Given the description of an element on the screen output the (x, y) to click on. 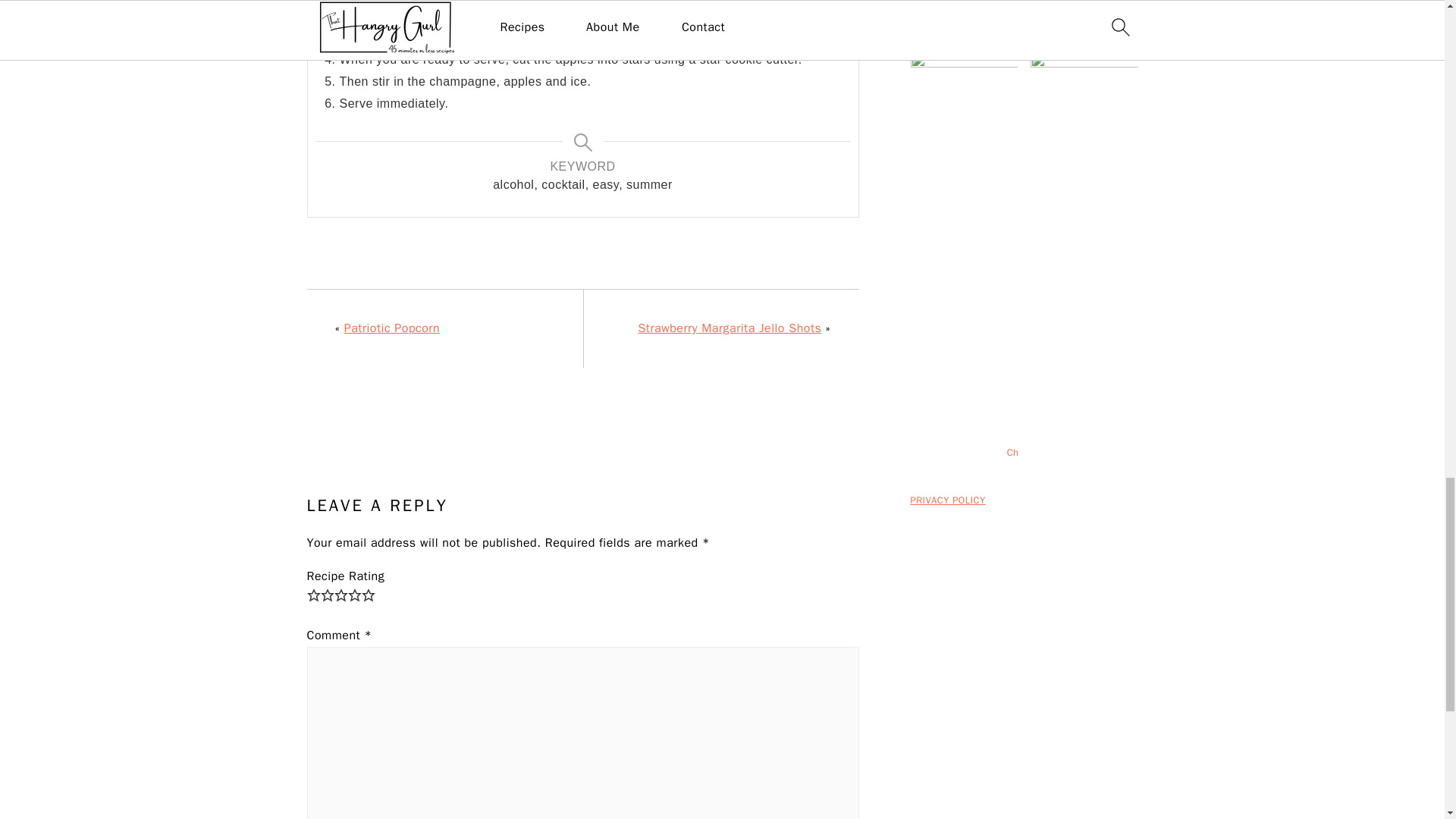
30-Minute Baked Strawberry Donuts (1099, 2)
Strawberry Margarita Jello Shots (729, 328)
Patriotic Popcorn (391, 328)
